Given the description of an element on the screen output the (x, y) to click on. 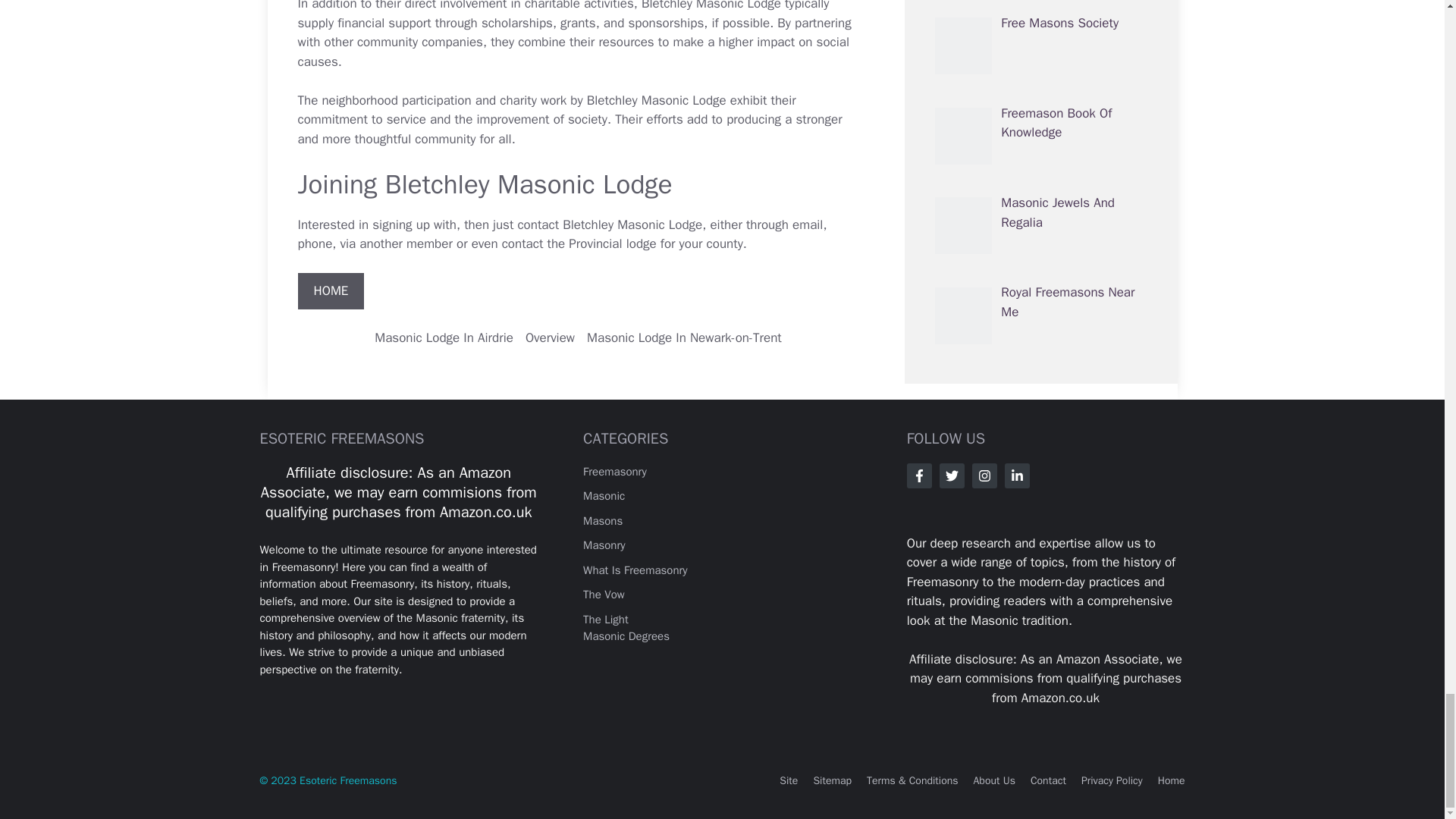
HOME (330, 290)
Masonic Lodge In Airdrie (443, 337)
Masonic Lodge In Newark-on-Trent (683, 337)
Overview (550, 337)
